Given the description of an element on the screen output the (x, y) to click on. 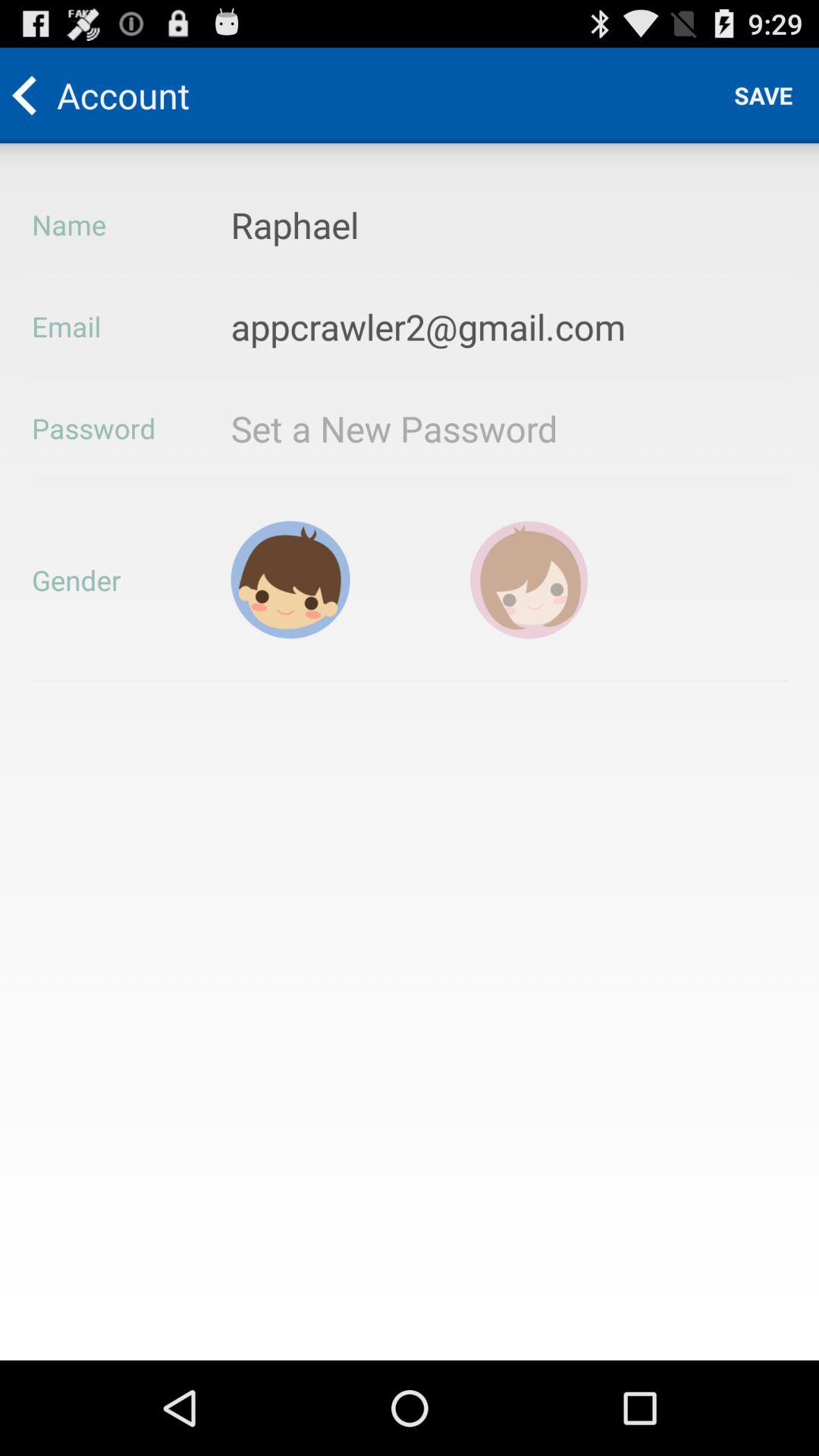
female gender selection (529, 579)
